Given the description of an element on the screen output the (x, y) to click on. 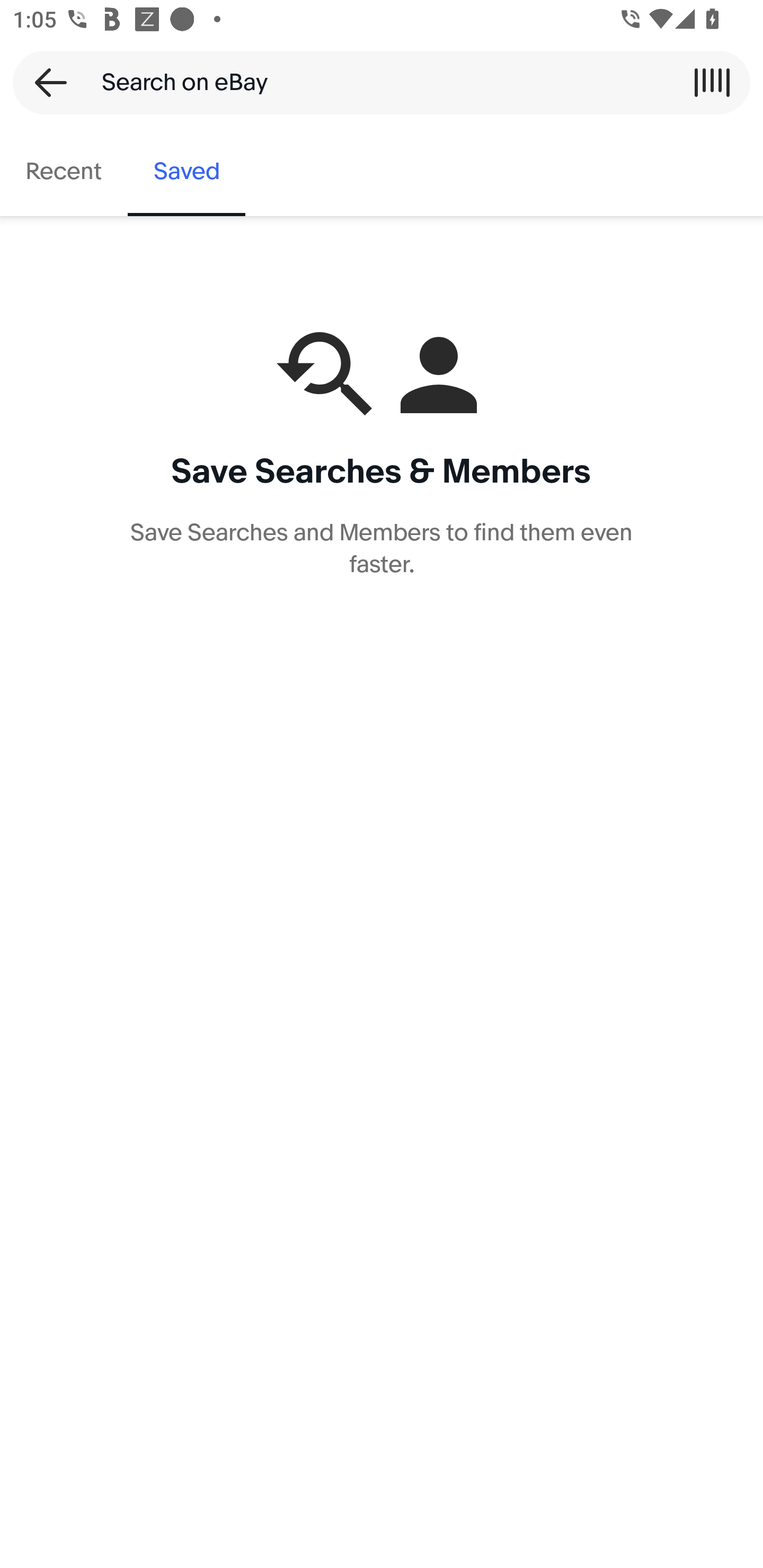
Back (44, 82)
Scan a barcode (711, 82)
Search on eBay (375, 82)
Recent, tab 1 of 2 Recent (63, 171)
